Given the description of an element on the screen output the (x, y) to click on. 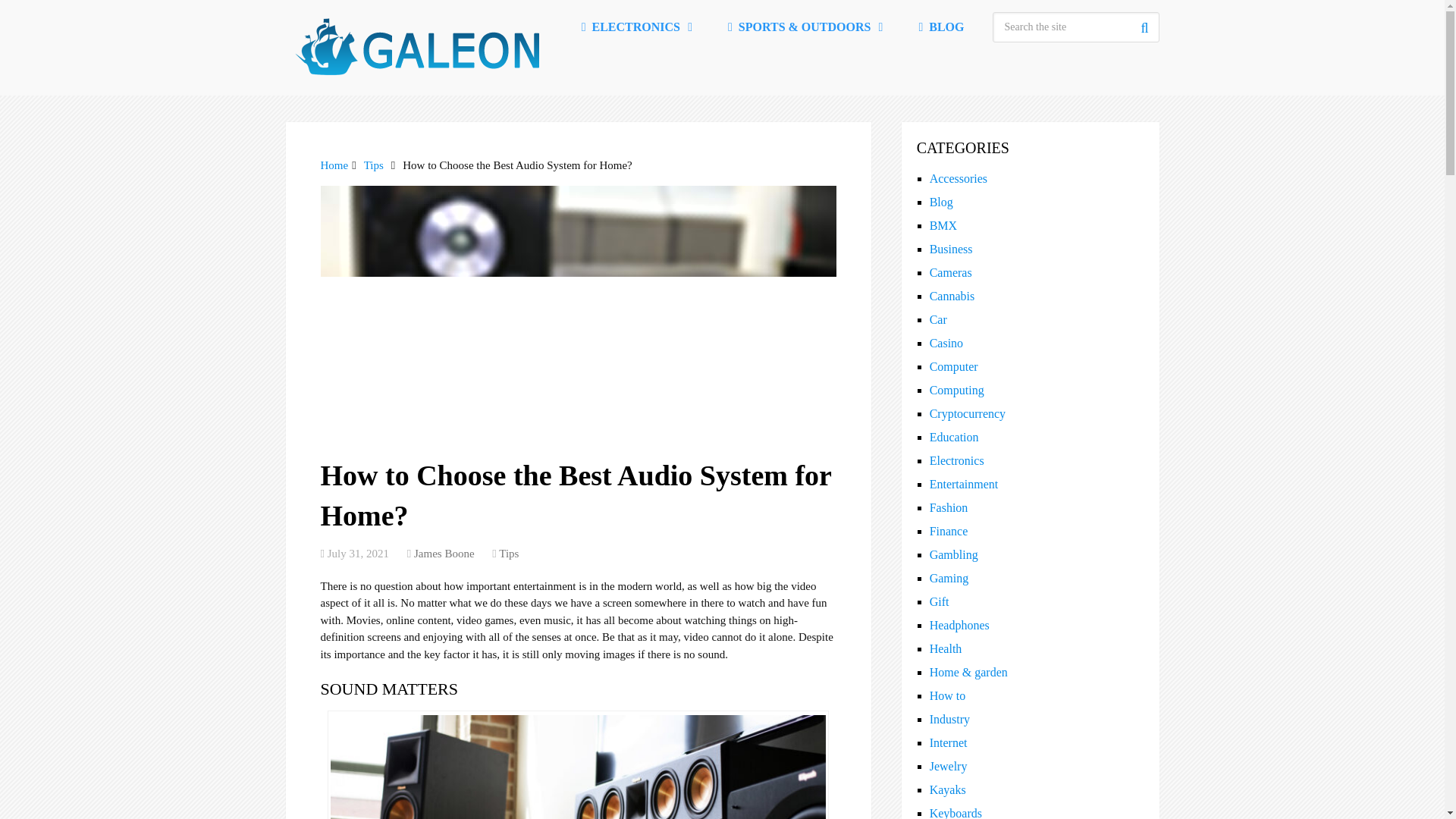
Electronics (635, 27)
ELECTRONICS (635, 27)
